Given the description of an element on the screen output the (x, y) to click on. 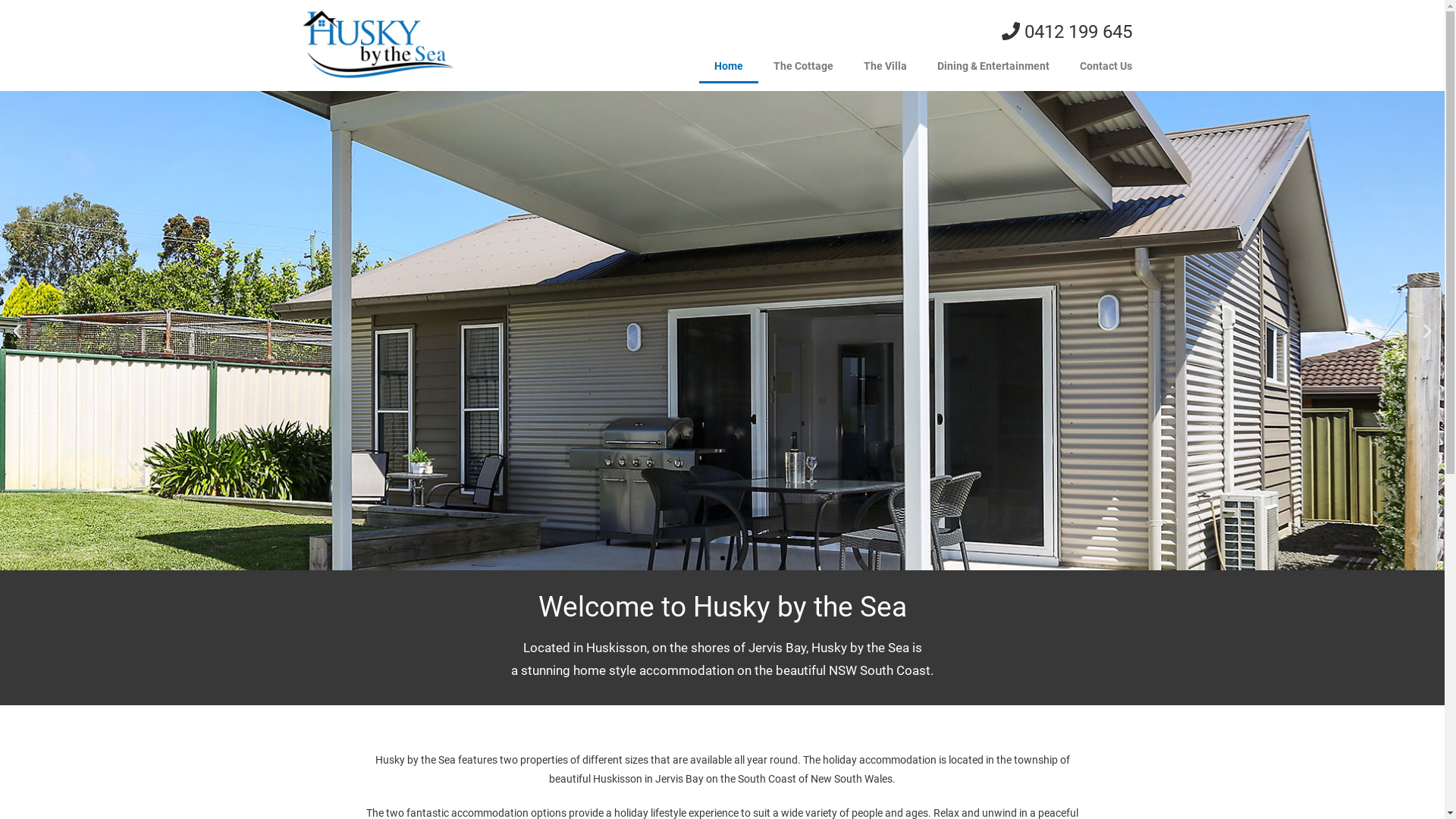
The Villa Element type: text (884, 65)
The Cottage Element type: text (803, 65)
Contact Us Element type: text (1105, 65)
Dining & Entertainment Element type: text (993, 65)
Home Element type: text (728, 65)
 0412 199 645 Element type: text (1066, 31)
